Given the description of an element on the screen output the (x, y) to click on. 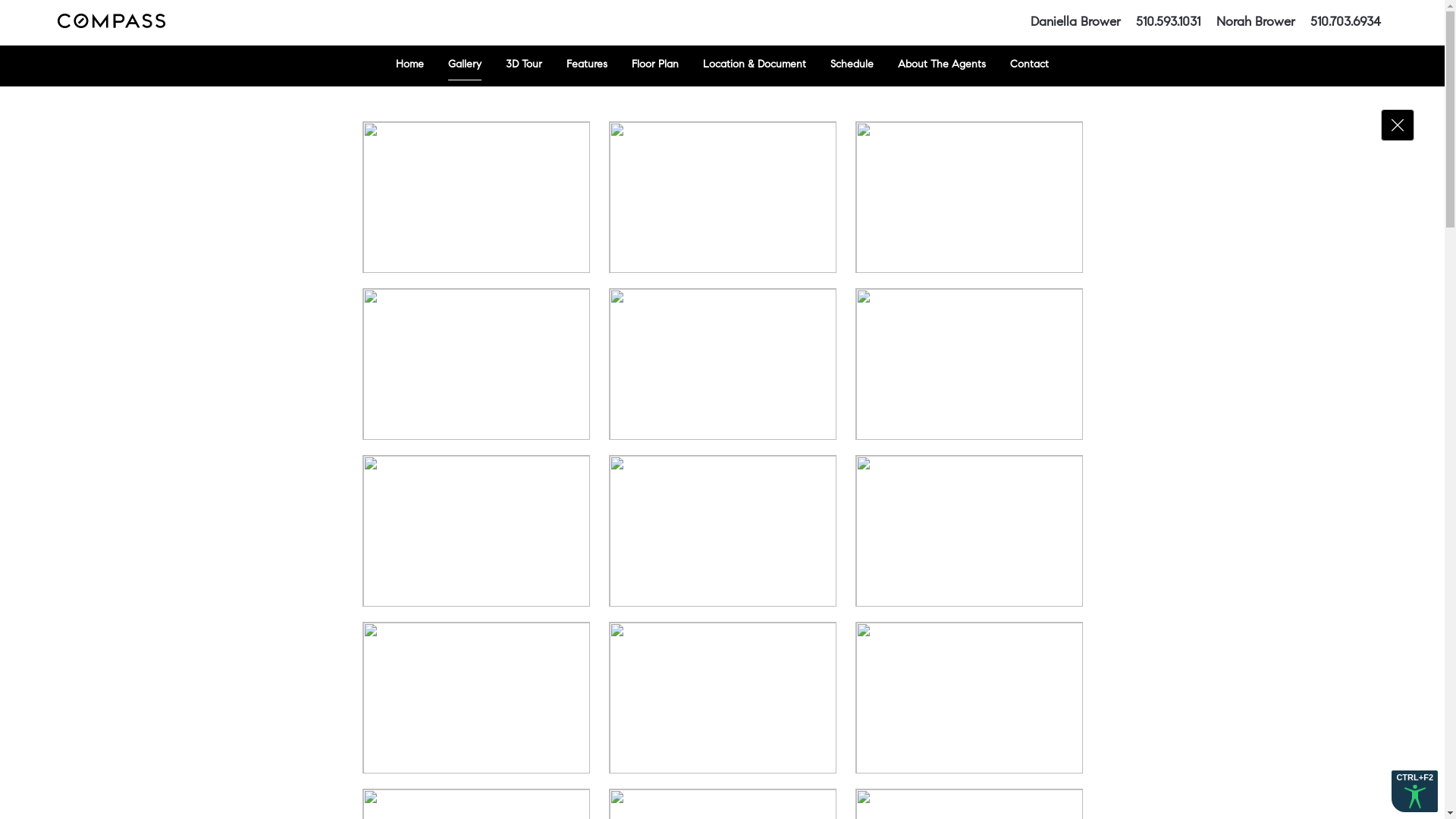
About The Agents Element type: text (941, 65)
Location & Document Element type: text (754, 65)
Gallery Element type: text (464, 65)
close Element type: text (1397, 125)
Floor Plan Element type: text (654, 65)
Home Element type: text (409, 65)
Features Element type: text (586, 65)
CTRL+F2 Element type: text (1414, 790)
3D Tour Element type: text (523, 65)
Schedule Element type: text (851, 65)
Contact Element type: text (1029, 65)
